Given the description of an element on the screen output the (x, y) to click on. 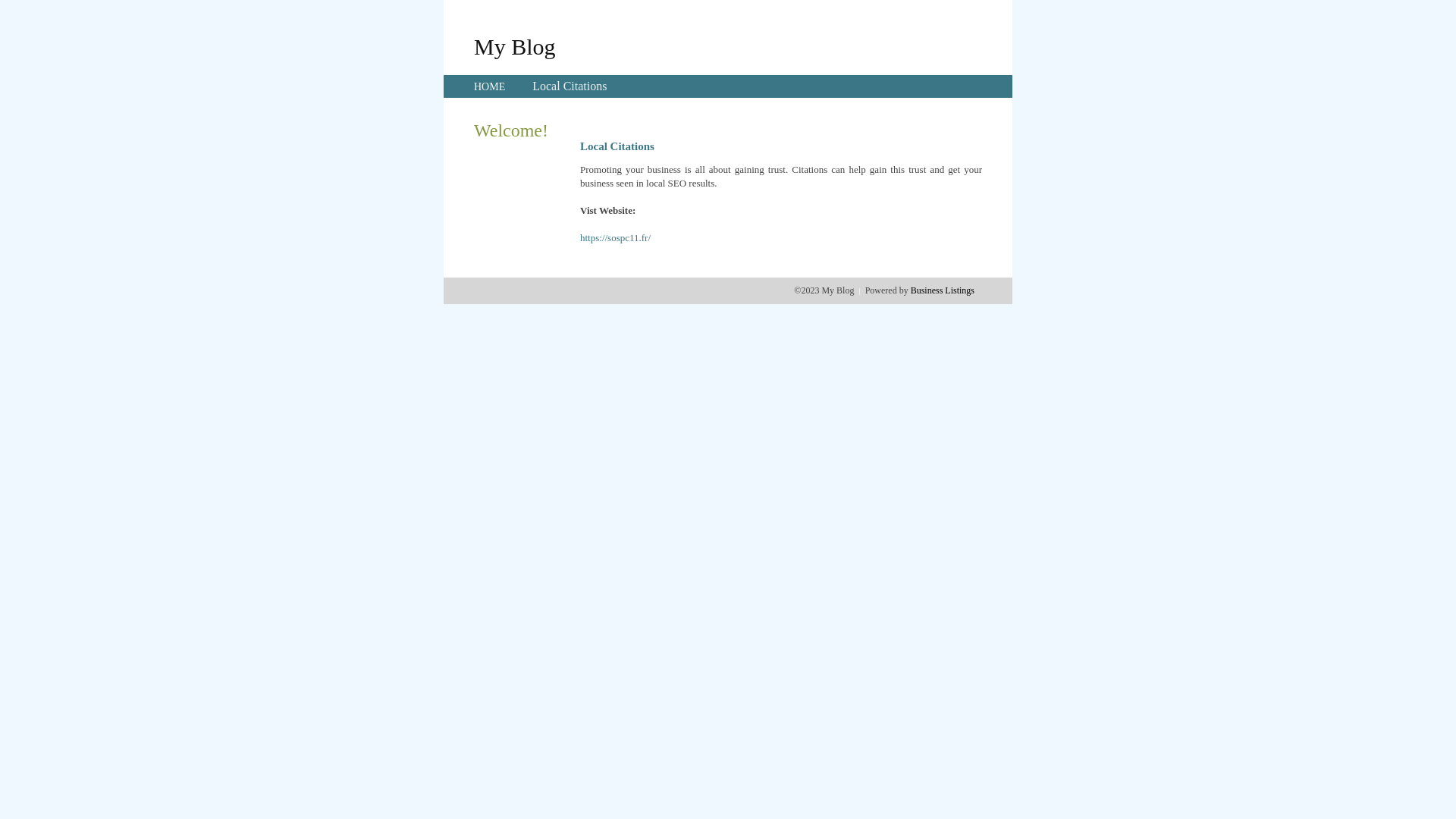
Business Listings Element type: text (942, 290)
HOME Element type: text (489, 86)
My Blog Element type: text (514, 46)
Local Citations Element type: text (569, 85)
https://sospc11.fr/ Element type: text (615, 237)
